Given the description of an element on the screen output the (x, y) to click on. 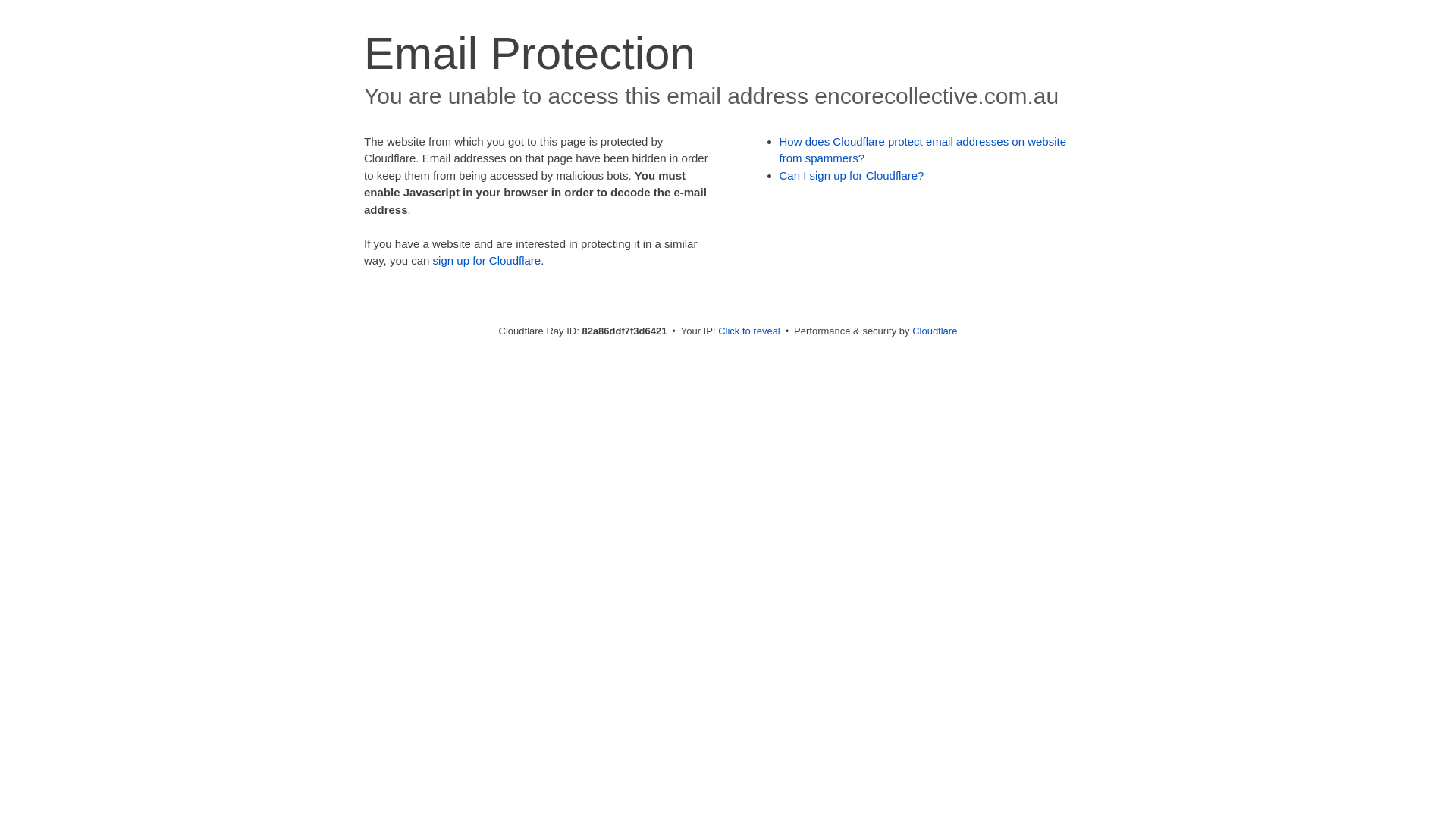
sign up for Cloudflare Element type: text (487, 260)
Cloudflare Element type: text (934, 330)
Click to reveal Element type: text (749, 330)
Can I sign up for Cloudflare? Element type: text (851, 175)
